Given the description of an element on the screen output the (x, y) to click on. 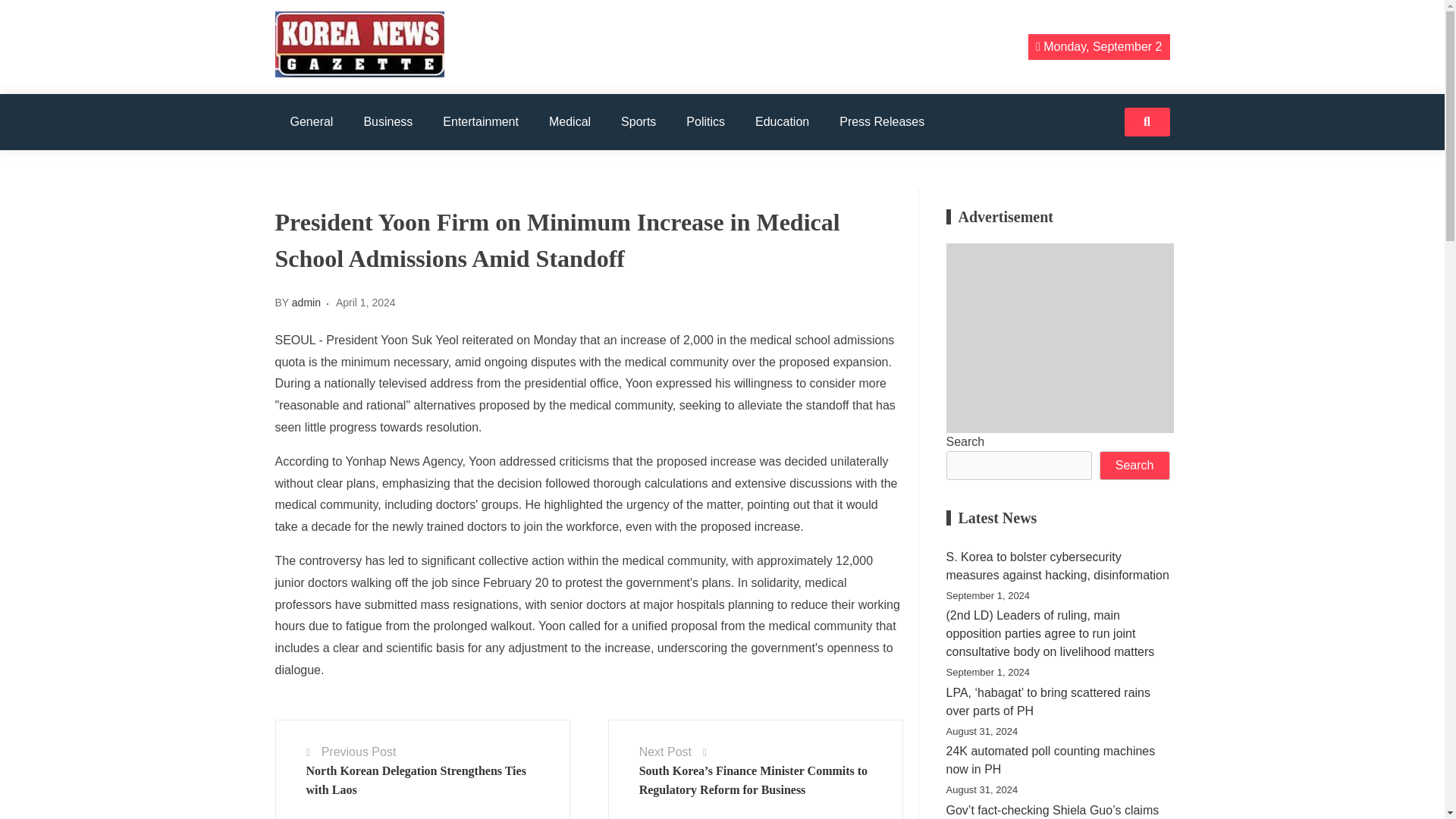
General (311, 121)
April 1, 2024 (366, 302)
Korea News Gazette (377, 97)
Next Post (665, 751)
Medical (569, 121)
Search (1134, 465)
Business (387, 121)
admin (306, 302)
24K automated poll counting machines now in PH (1058, 760)
